Given the description of an element on the screen output the (x, y) to click on. 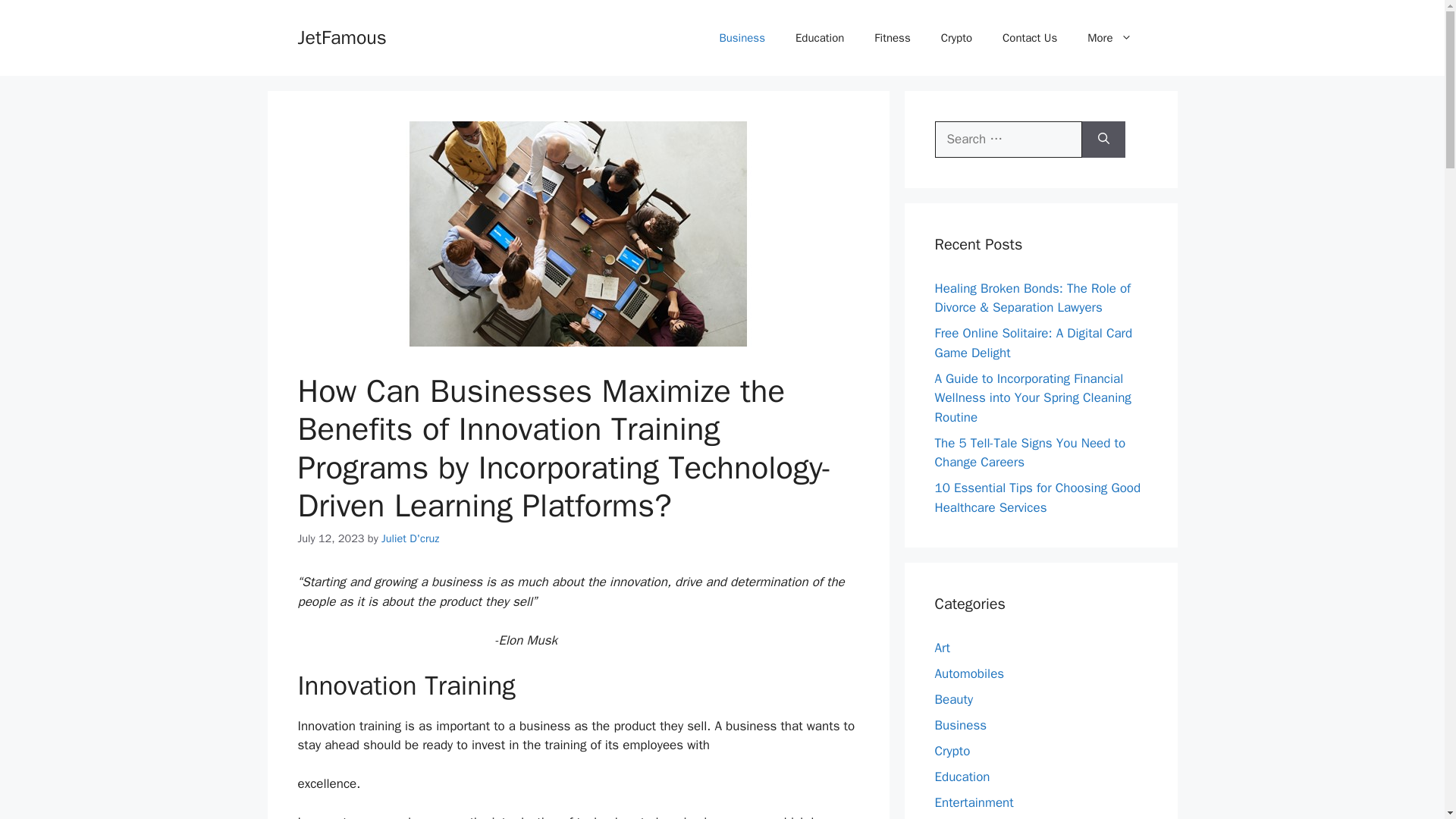
Contact Us (1029, 37)
Education (962, 776)
The 5 Tell-Tale Signs You Need to Change Careers (1029, 452)
Juliet D'cruz (410, 538)
Entertainment (973, 802)
Crypto (956, 37)
Crypto (951, 750)
Education (819, 37)
More (1109, 37)
Art (941, 647)
Beauty (953, 699)
Automobiles (969, 673)
JetFamous (341, 37)
Free Online Solitaire: A Digital Card Game Delight (1033, 343)
